Given the description of an element on the screen output the (x, y) to click on. 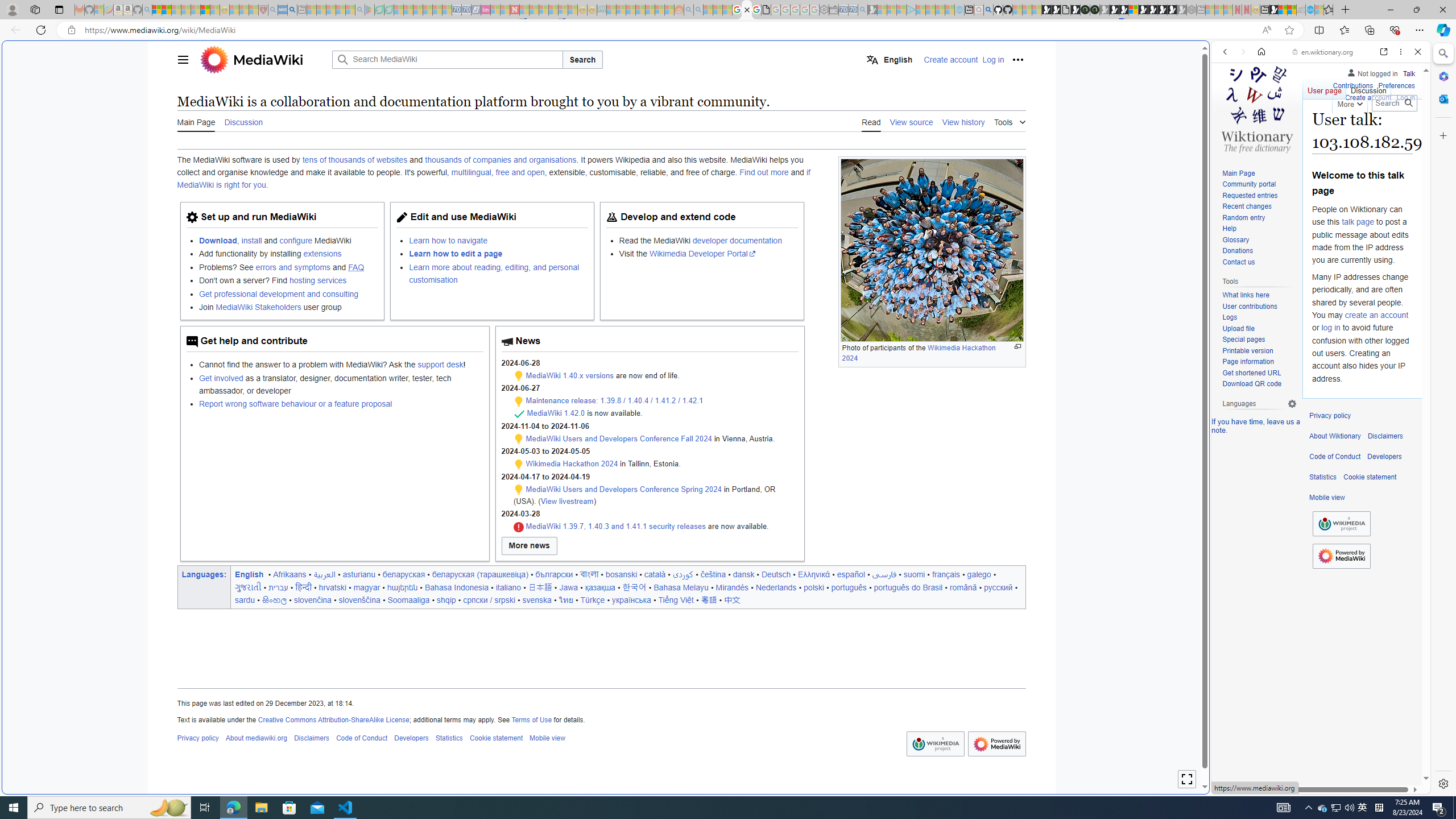
Frequently visited (965, 151)
Maintenance update (518, 489)
More news (528, 545)
Logs (1229, 317)
multilingual (471, 172)
FAQ (355, 266)
